Given the description of an element on the screen output the (x, y) to click on. 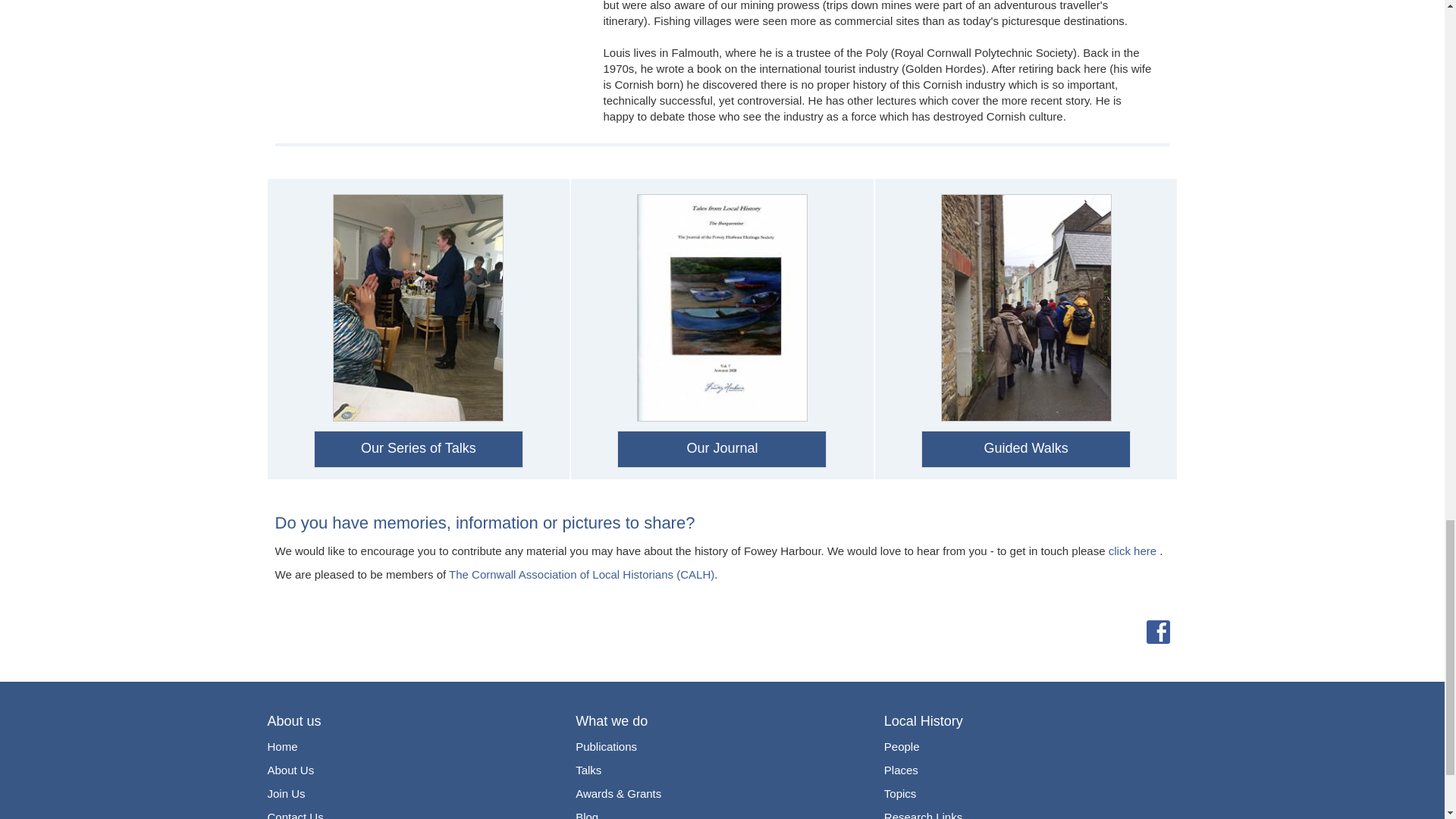
Our Journal (721, 449)
click here (1132, 550)
Contact Us (294, 812)
Our Series of Talks (418, 449)
Topics (900, 792)
About Us (290, 770)
Places (900, 770)
Join Us (285, 792)
Publications (606, 746)
Guided Walks (1025, 449)
